Given the description of an element on the screen output the (x, y) to click on. 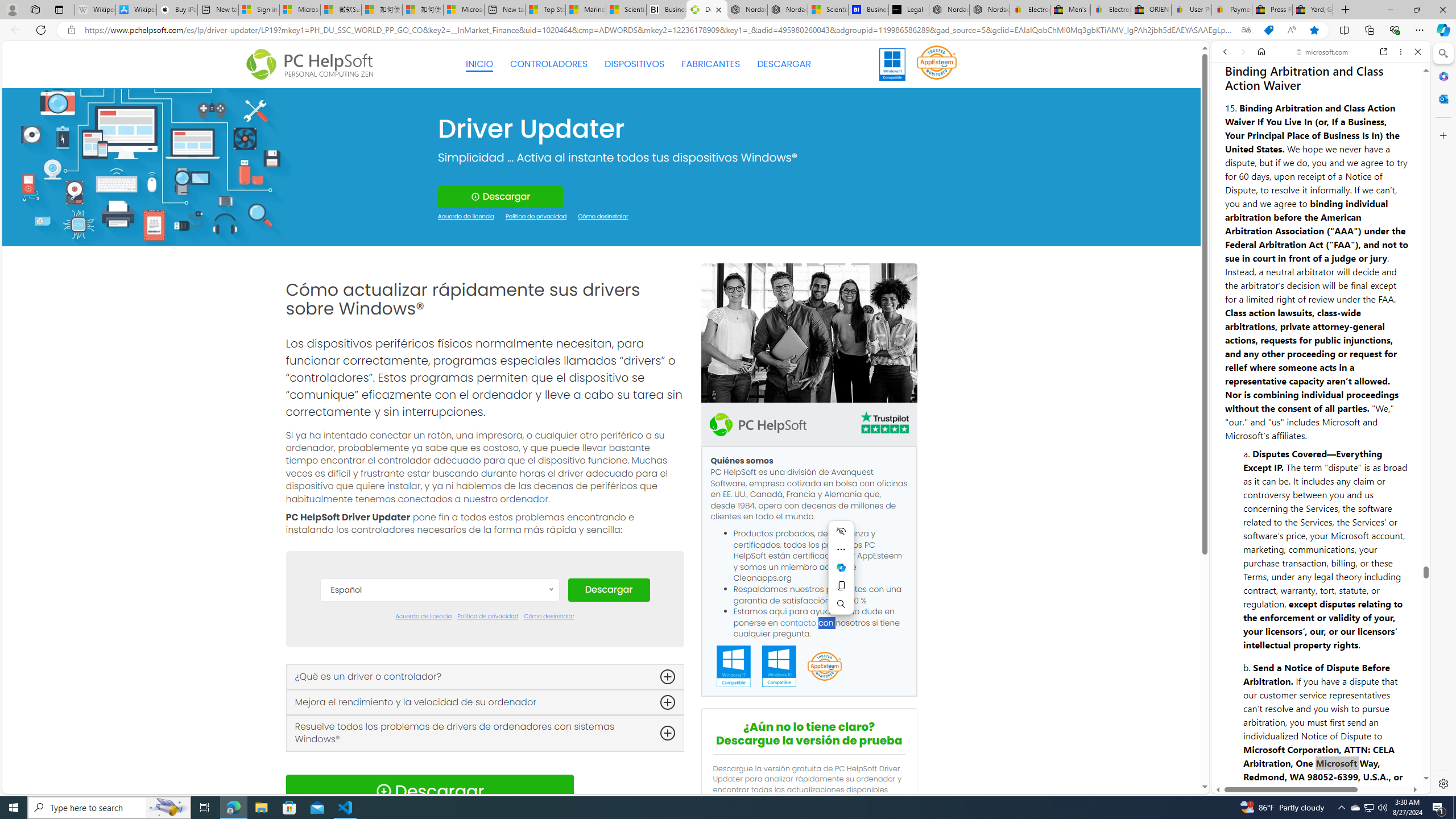
User Privacy Notice | eBay (1191, 9)
Shopping in Microsoft Edge (1268, 29)
contacto (798, 622)
More actions (840, 549)
Open in New Tab (1321, 768)
Copy (840, 585)
Address and search bar (658, 29)
Press Room - eBay Inc. (1272, 9)
Mini menu on text selection (840, 567)
